Given the description of an element on the screen output the (x, y) to click on. 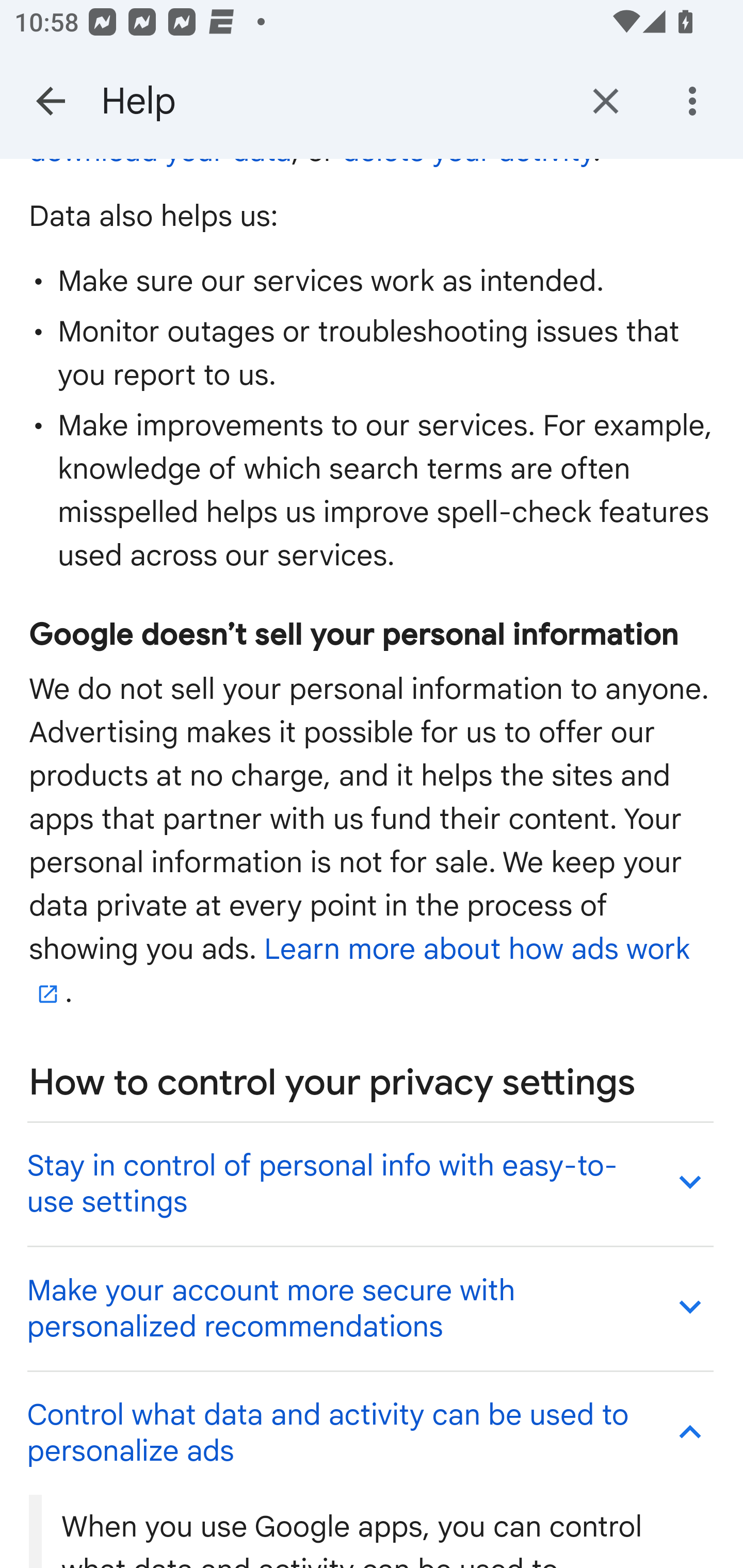
Navigate up (50, 101)
Return to Google News (605, 101)
More options (696, 101)
Learn more about how ads work (359, 971)
